Given the description of an element on the screen output the (x, y) to click on. 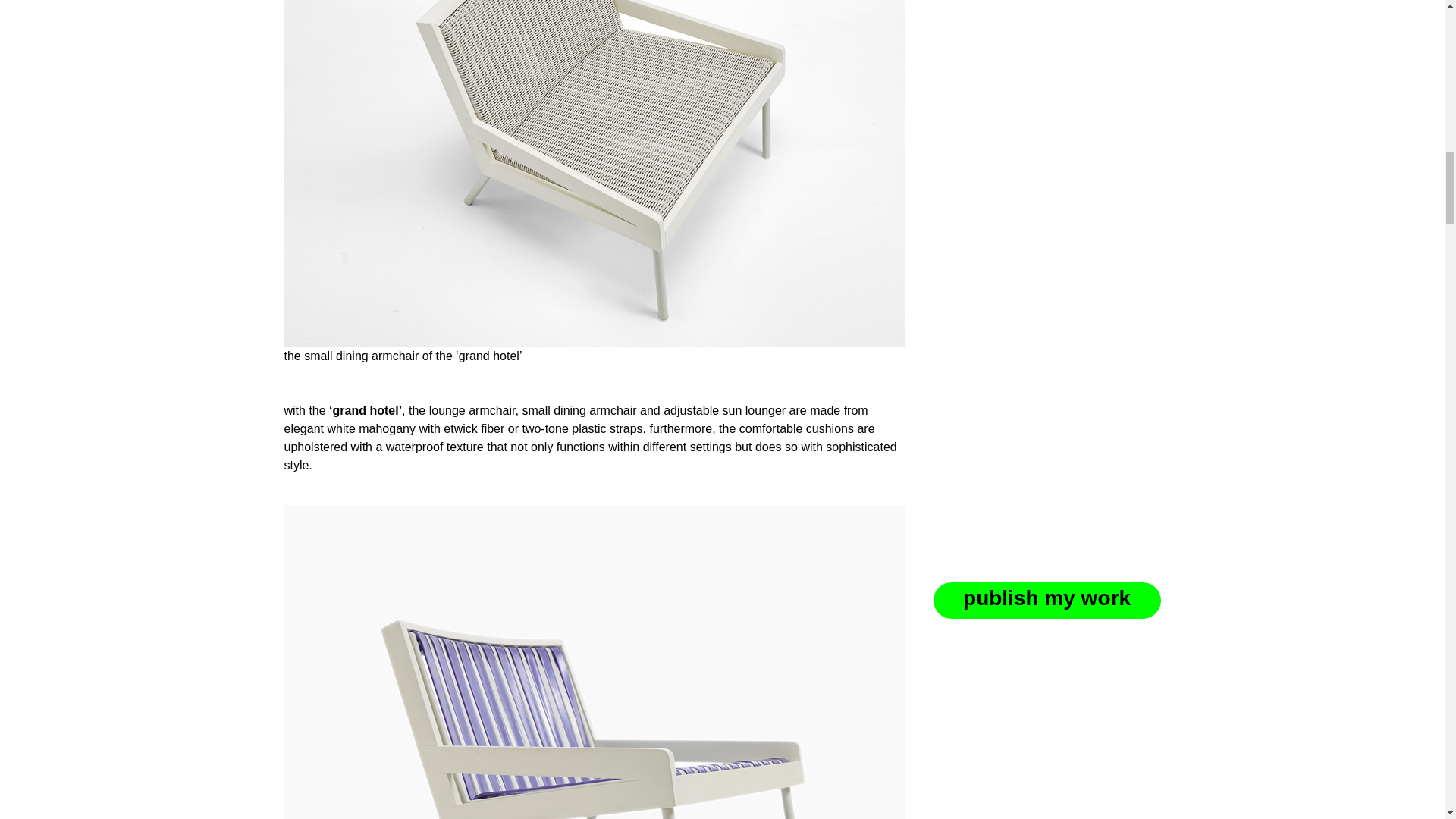
see sample (1052, 148)
subscribe (986, 236)
